Given the description of an element on the screen output the (x, y) to click on. 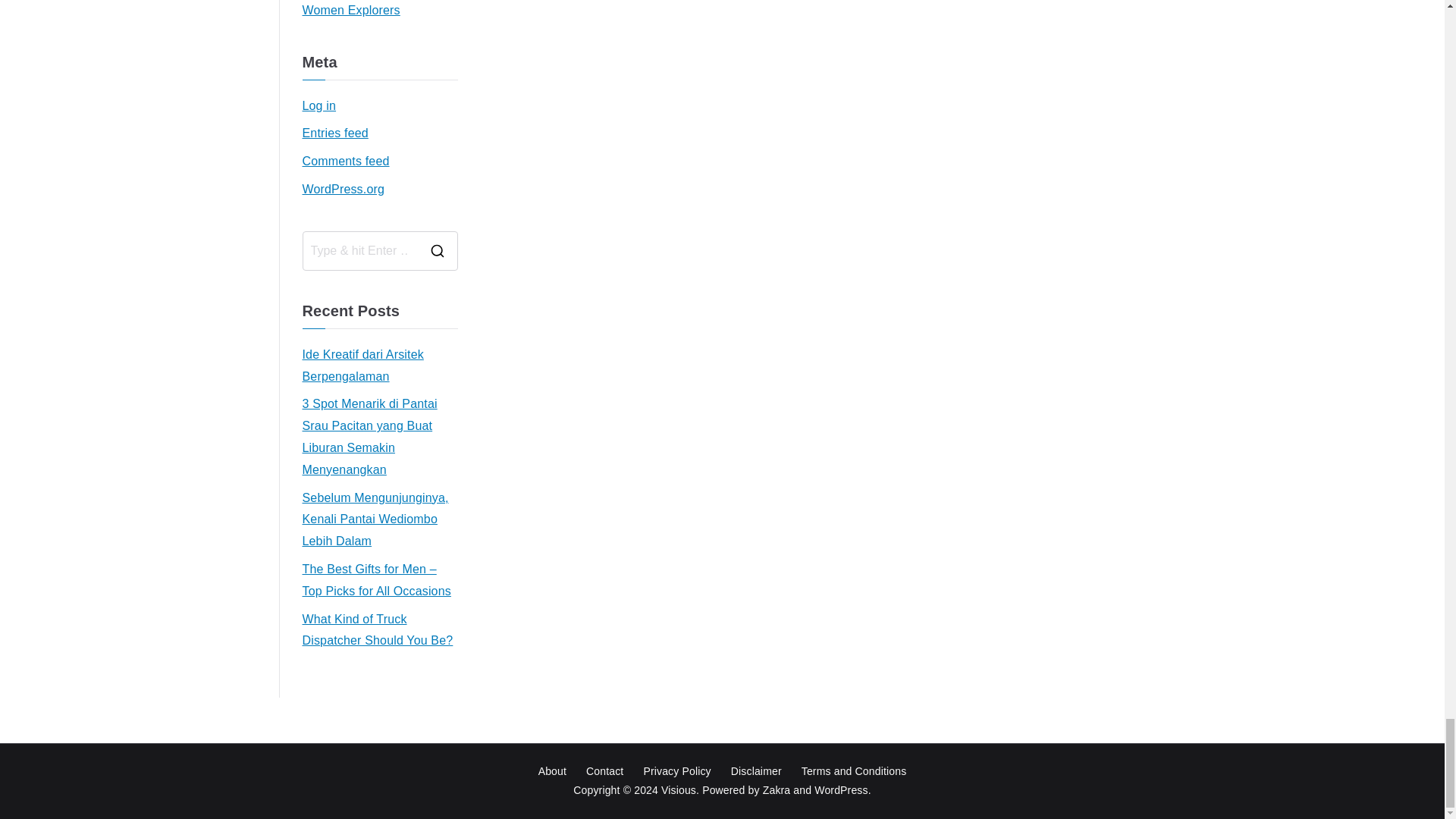
Visious (678, 789)
Zakra (776, 789)
WordPress (840, 789)
Search for: (360, 250)
